Given the description of an element on the screen output the (x, y) to click on. 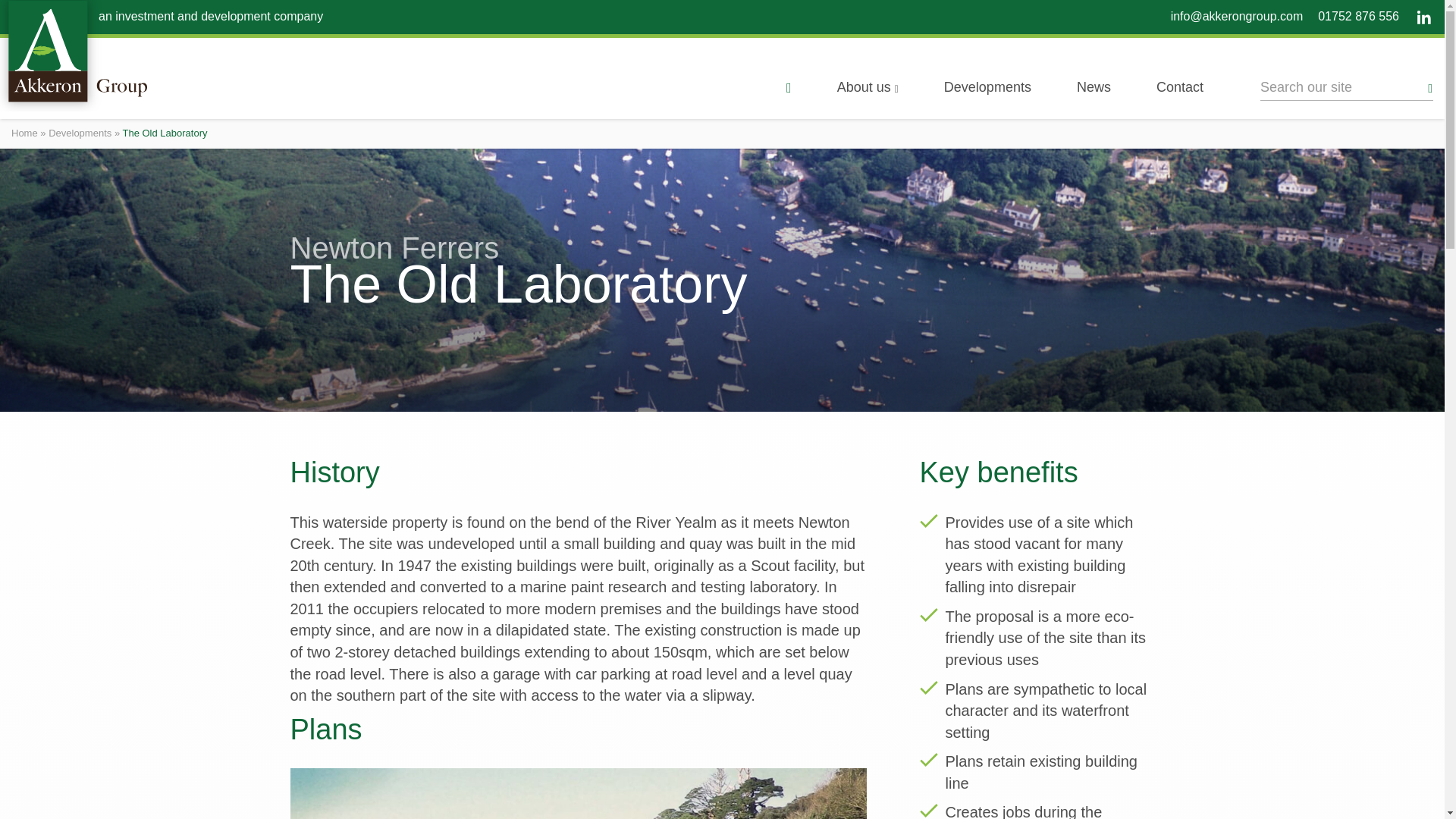
Developments (80, 132)
01752 876 556 (1358, 15)
Contact (1180, 87)
About us (867, 87)
Developments (986, 87)
Home (24, 132)
Follow us on linkedin (1422, 16)
News (1093, 87)
